Given the description of an element on the screen output the (x, y) to click on. 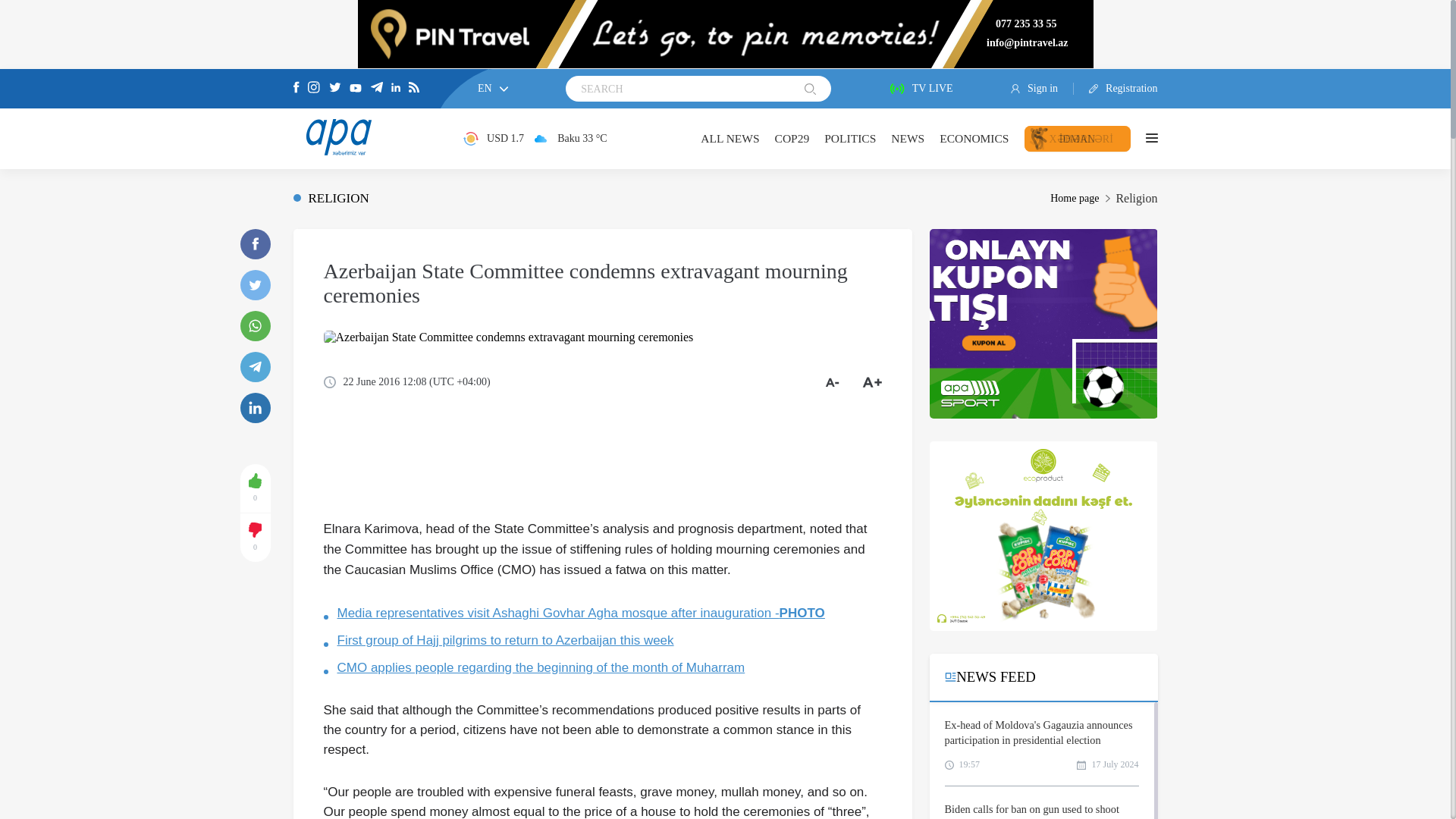
ECONOMICS (974, 138)
EN (492, 88)
NEWS (907, 138)
Sign in (1042, 88)
COP29 (791, 138)
TV LIVE (921, 88)
Registration (1115, 88)
POLITICS (850, 138)
USD 1.7 (493, 138)
ALL NEWS (729, 138)
Iframe (1043, 535)
